Given the description of an element on the screen output the (x, y) to click on. 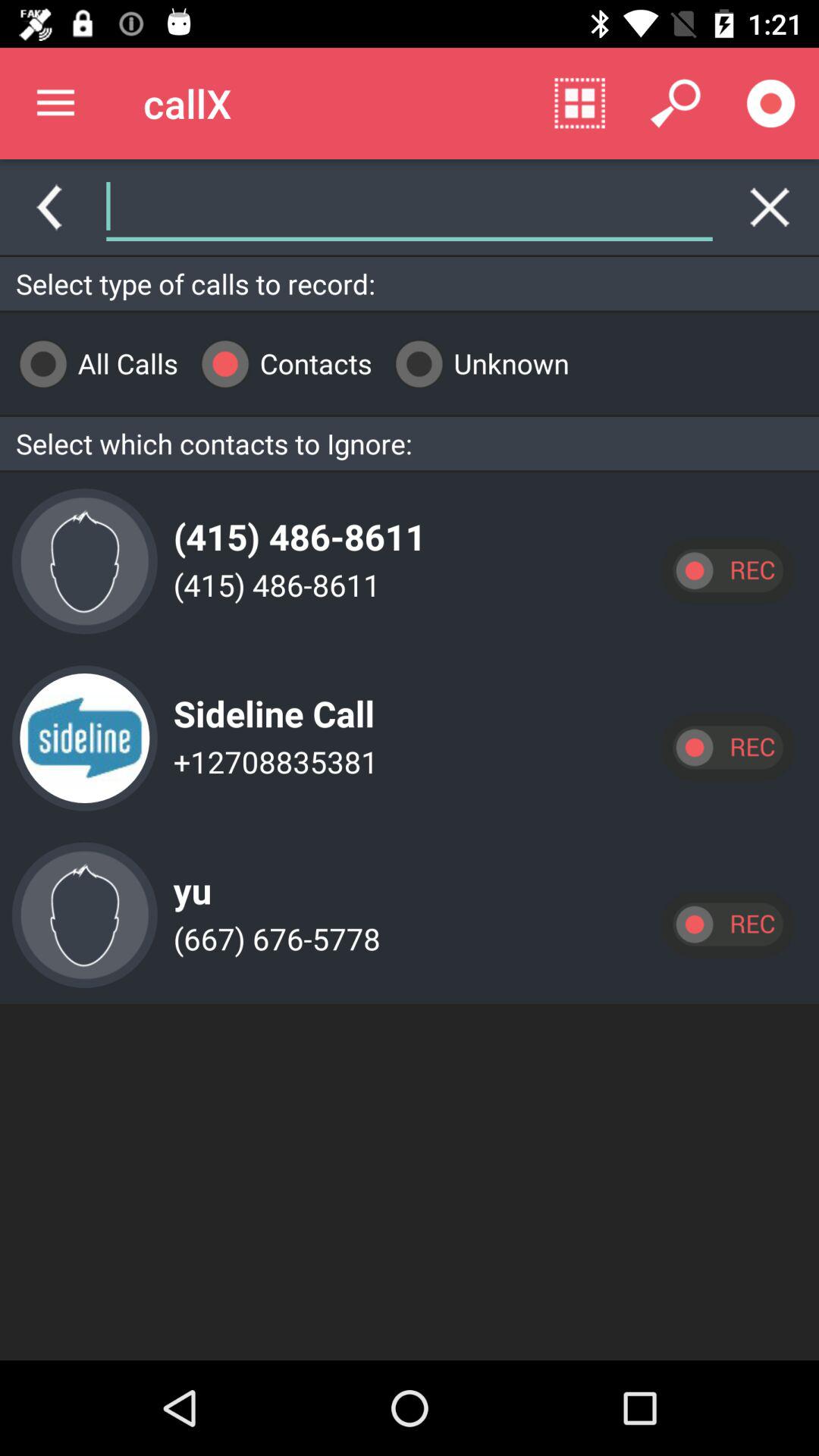
launch item to the right of the favorites app (579, 103)
